Given the description of an element on the screen output the (x, y) to click on. 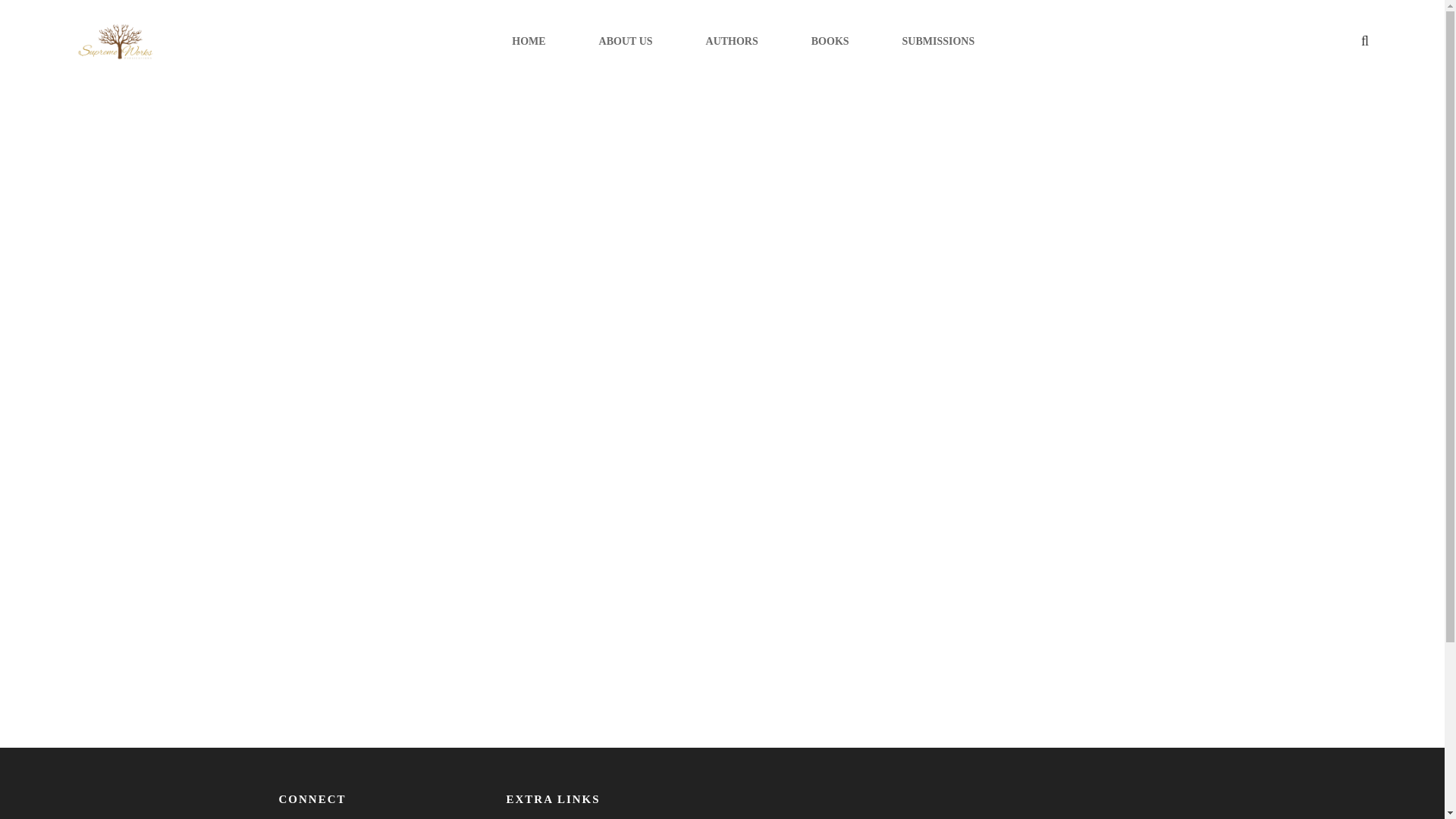
BOOKS (829, 41)
AUTHORS (732, 41)
HOME (528, 41)
Supreme Works Publications- (115, 41)
SUBMISSIONS (938, 41)
ABOUT US (625, 41)
